Given the description of an element on the screen output the (x, y) to click on. 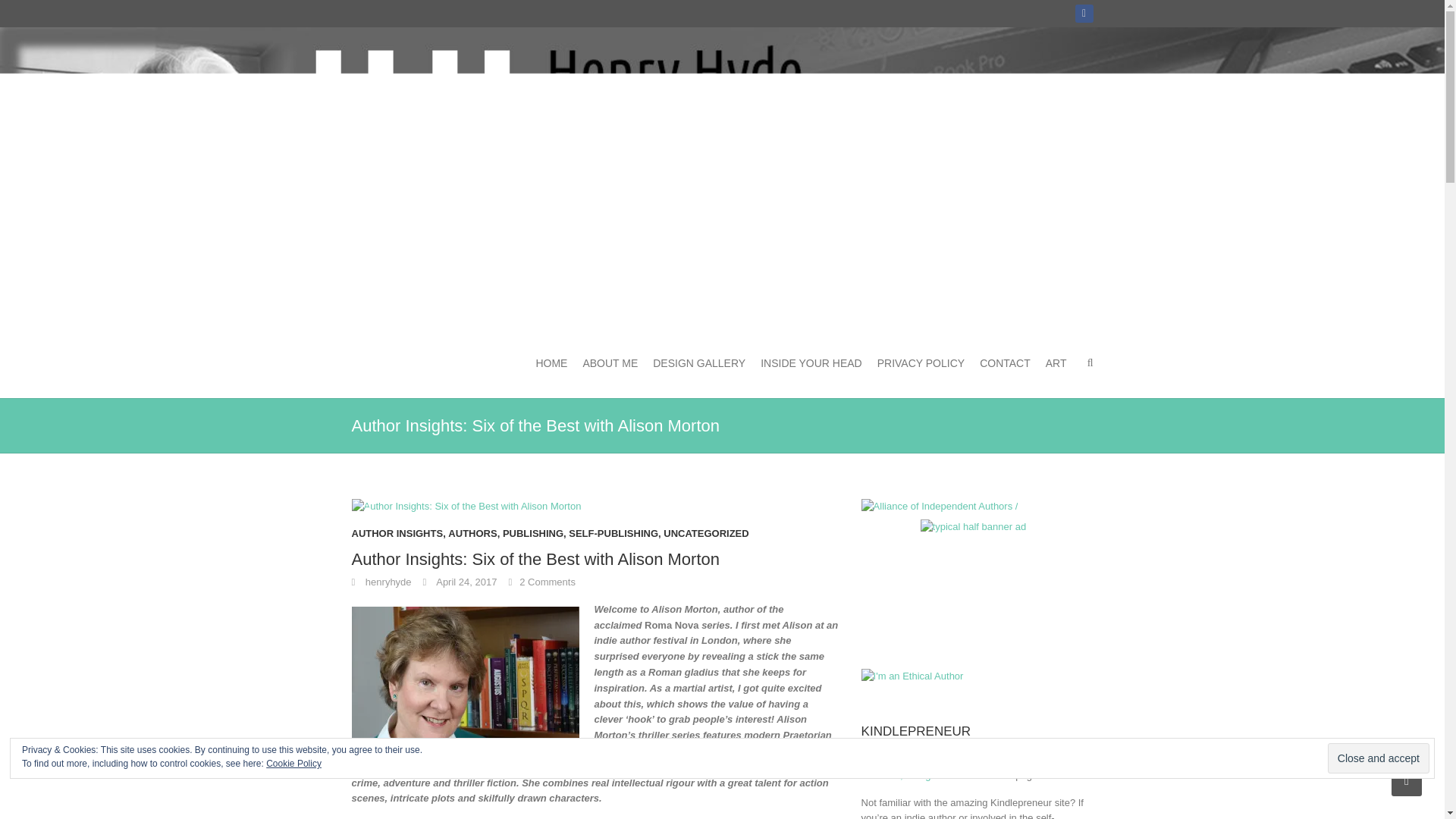
DESIGN GALLERY (698, 362)
PUBLISHING (532, 537)
INSIDE YOUR HEAD (810, 362)
SELF-PUBLISHING (613, 537)
Author Insights: Six of the Best with Alison Morton (466, 506)
April 24, 2017 (460, 582)
Close and accept (1378, 757)
henryhyde (382, 582)
UNCATEGORIZED (705, 537)
AUTHOR INSIGHTS (398, 537)
